Given the description of an element on the screen output the (x, y) to click on. 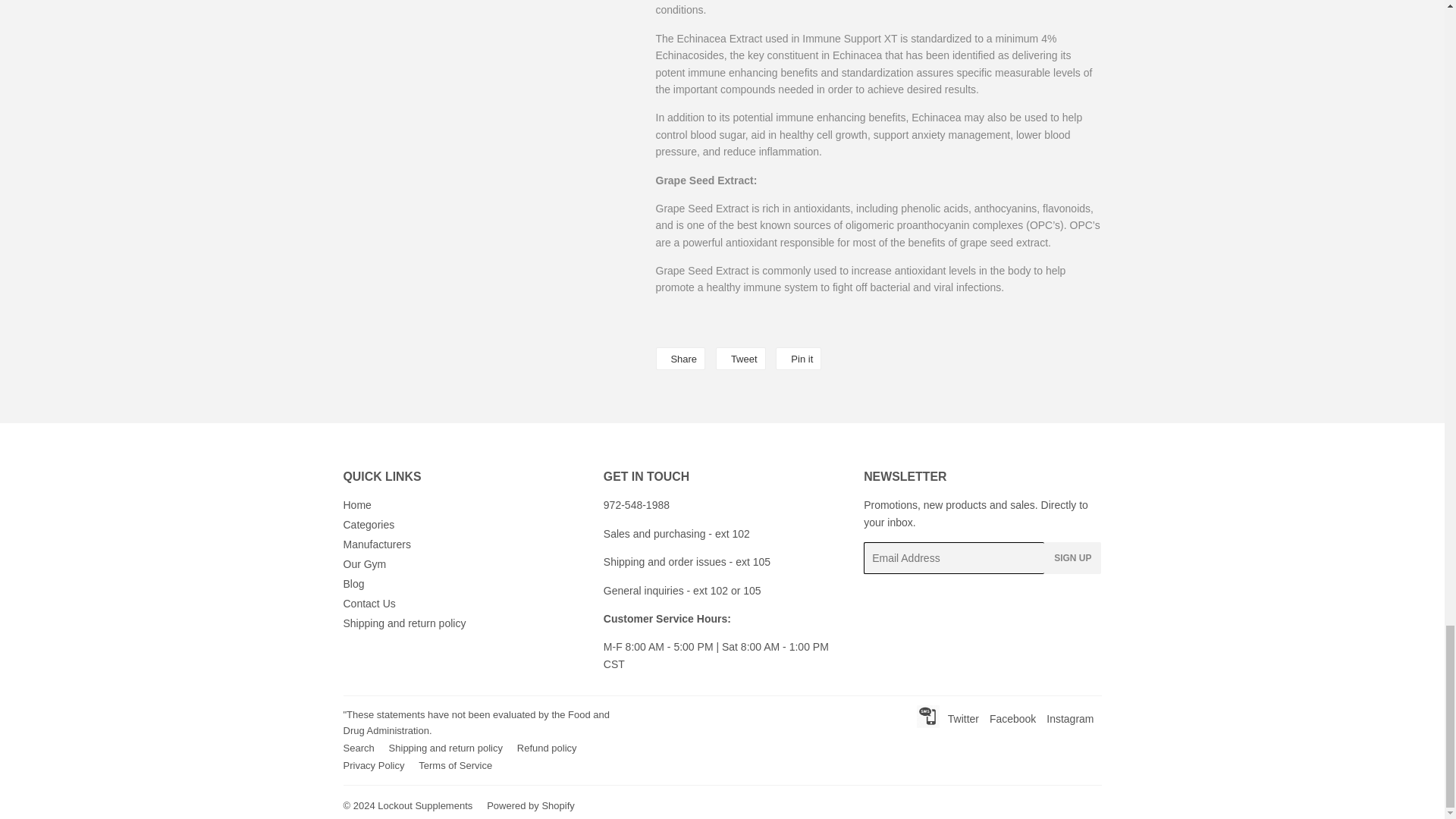
Lockout Supplements on Twitter (925, 718)
Lockout Supplements on Twitter (962, 718)
Share on Facebook (679, 358)
Lockout Supplements on Instagram (1069, 718)
Pin on Pinterest (798, 358)
Tweet on Twitter (740, 358)
Lockout Supplements on Facebook (1012, 718)
